Given the description of an element on the screen output the (x, y) to click on. 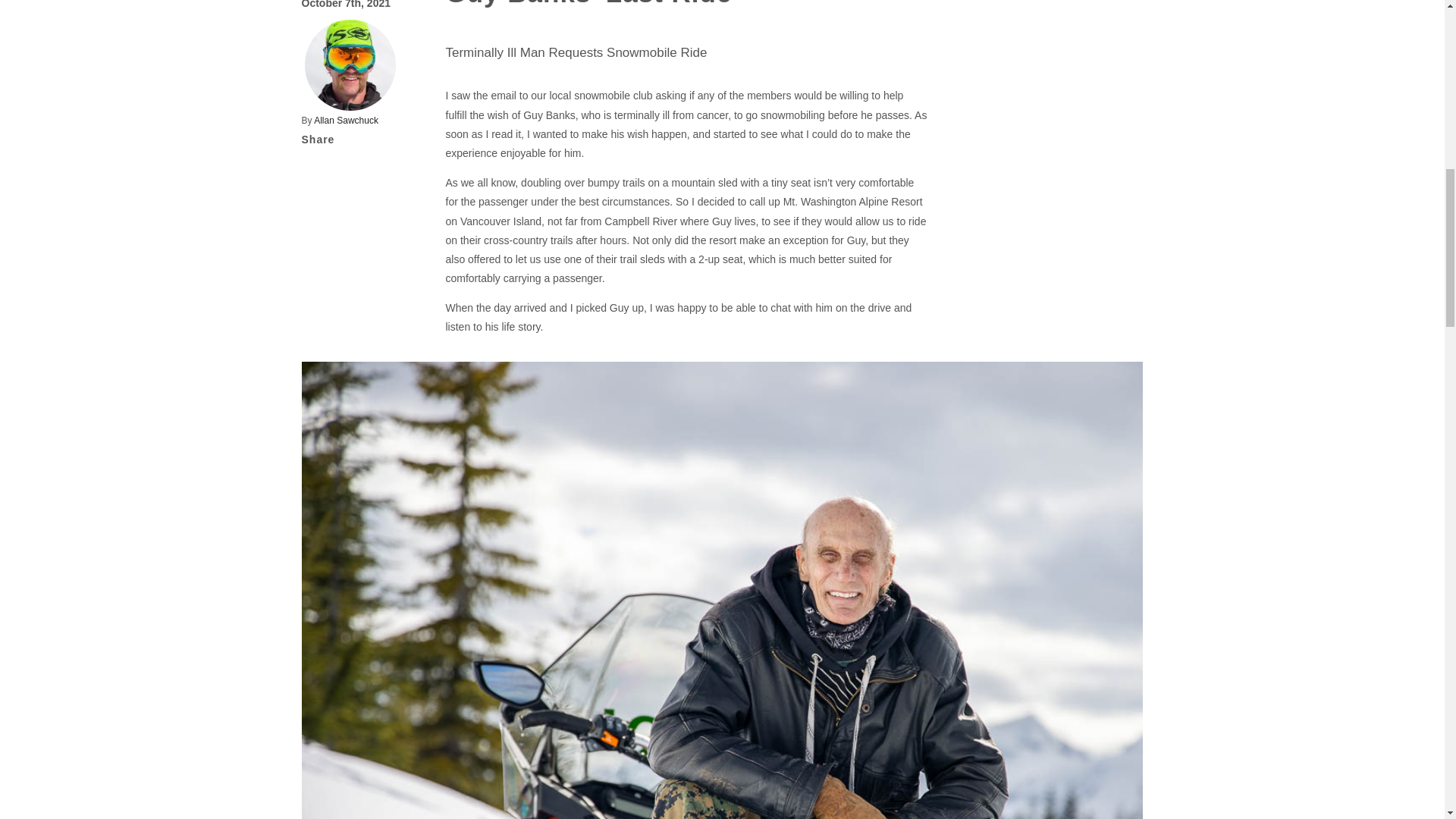
3rd party ad content (1062, 214)
3rd party ad content (1062, 535)
View Allan Sawchuck (346, 120)
View Allan Sawchuck (349, 64)
